Given the description of an element on the screen output the (x, y) to click on. 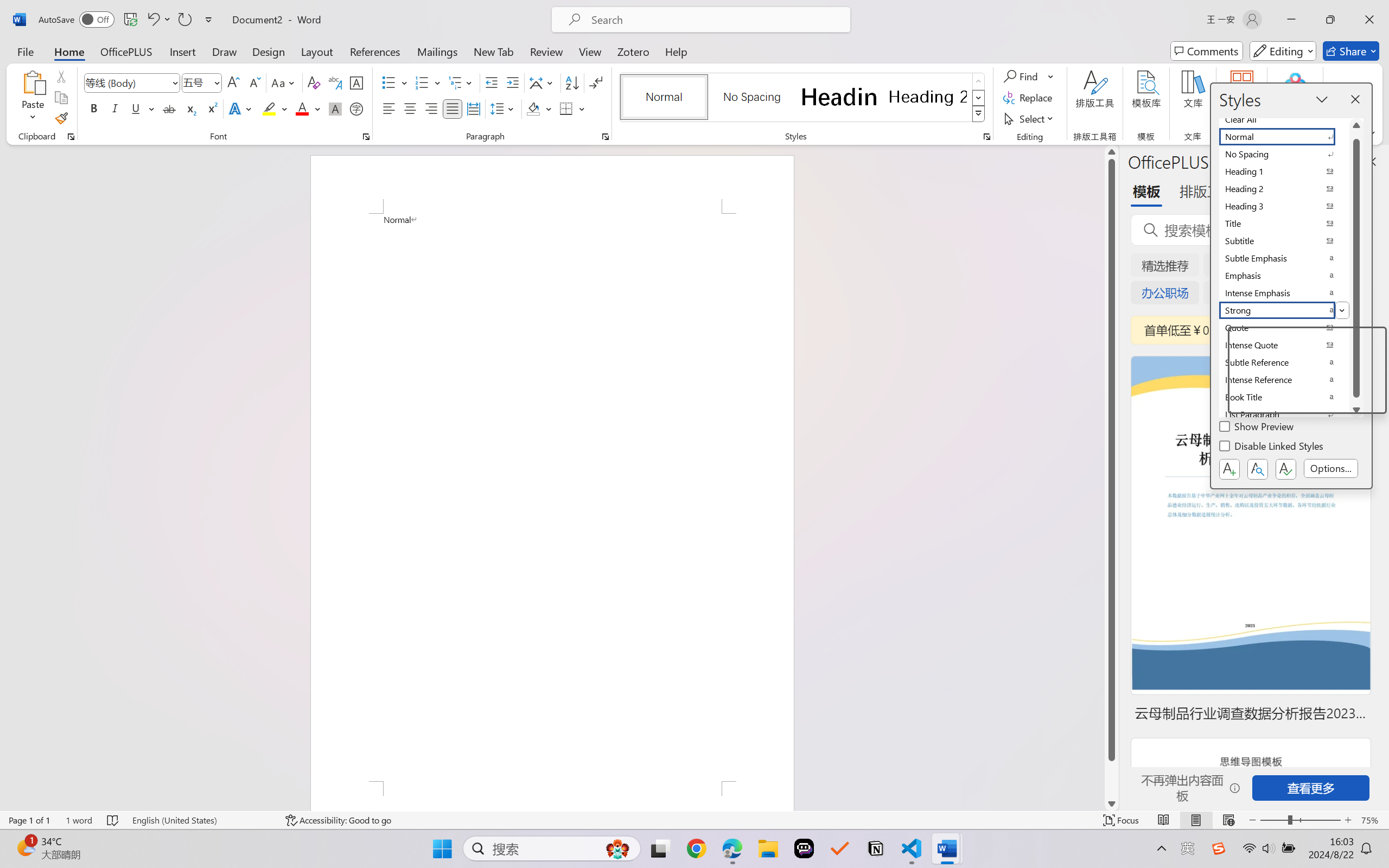
Shading RGB(0, 0, 0) (533, 108)
Increase Indent (512, 82)
Align Left (388, 108)
Select (1030, 118)
Numbering (428, 82)
Help (675, 51)
Copy (60, 97)
Zotero (632, 51)
Show/Hide Editing Marks (595, 82)
Bold (94, 108)
